Given the description of an element on the screen output the (x, y) to click on. 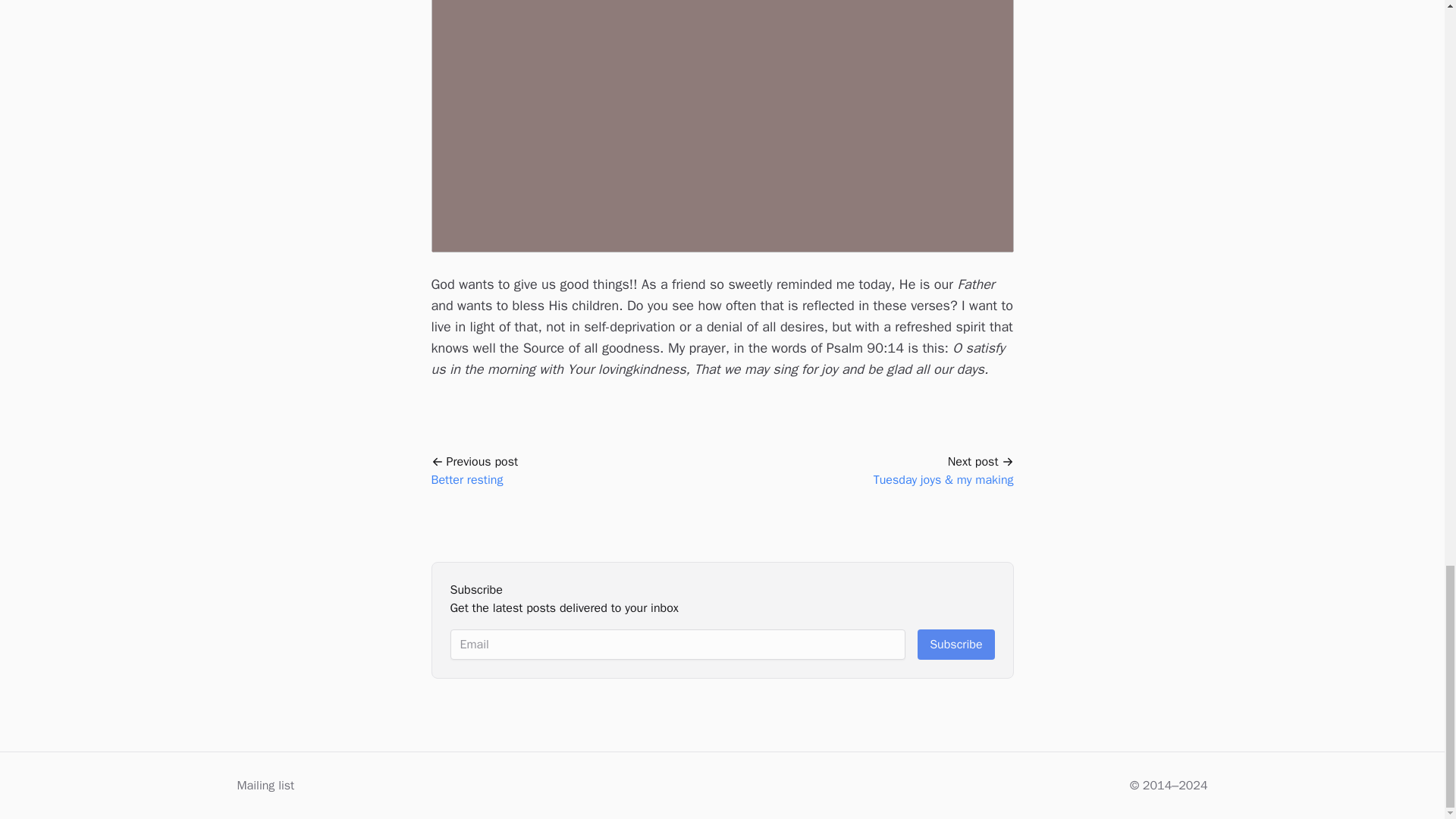
Subscribe (955, 644)
Mailing list (573, 470)
